Given the description of an element on the screen output the (x, y) to click on. 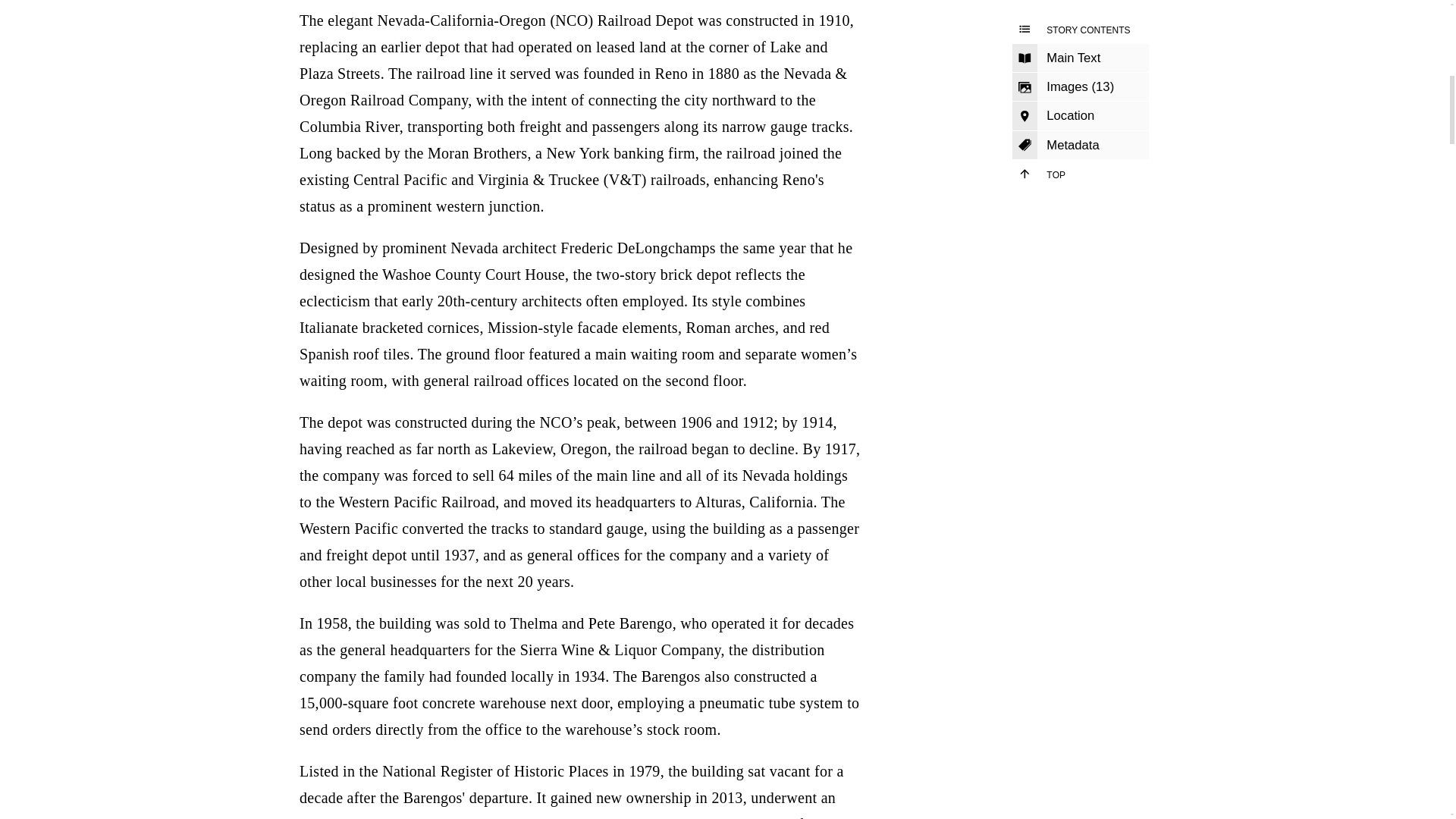
Story Contents (1079, 21)
Location (1079, 108)
Main Text (1079, 50)
Skip to Main Text (1079, 50)
Metadata (1079, 137)
Skip to Metadata (1079, 137)
Return to Top (1079, 166)
Top (1079, 166)
Skip to Map Location (1079, 108)
Skip to Images (1079, 79)
